Given the description of an element on the screen output the (x, y) to click on. 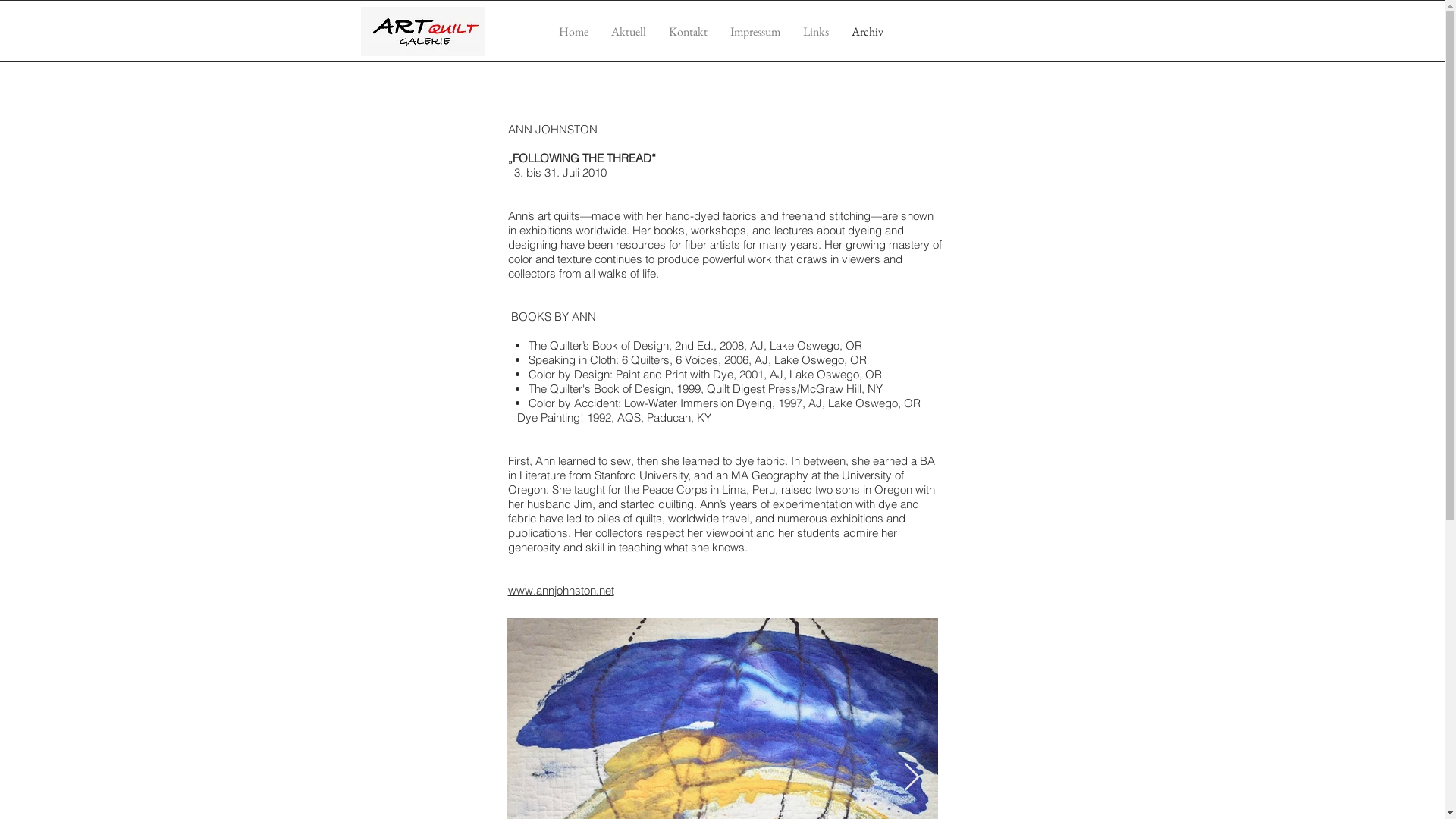
Links Element type: text (815, 31)
Home Element type: text (573, 31)
Impressum Element type: text (754, 31)
www.annjohnston.net Element type: text (561, 590)
Kontakt Element type: text (687, 31)
Aktuell Element type: text (627, 31)
Archiv Element type: text (867, 31)
